Given the description of an element on the screen output the (x, y) to click on. 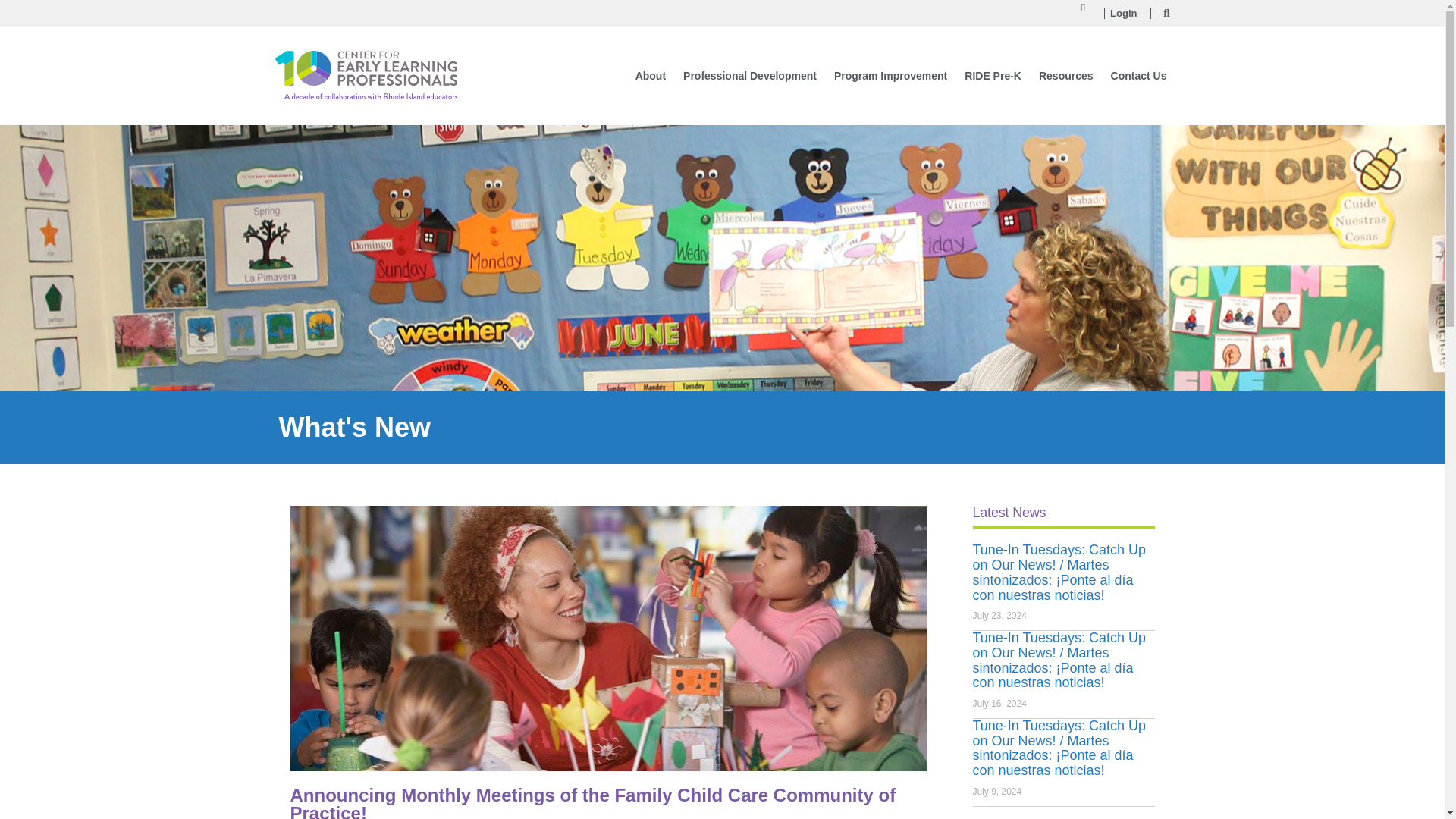
Login (1123, 13)
RIDE Pre-K (992, 75)
Professional Development (749, 75)
Contact Us (1138, 75)
Resources (1065, 75)
About (649, 75)
Program Improvement (891, 75)
